Given the description of an element on the screen output the (x, y) to click on. 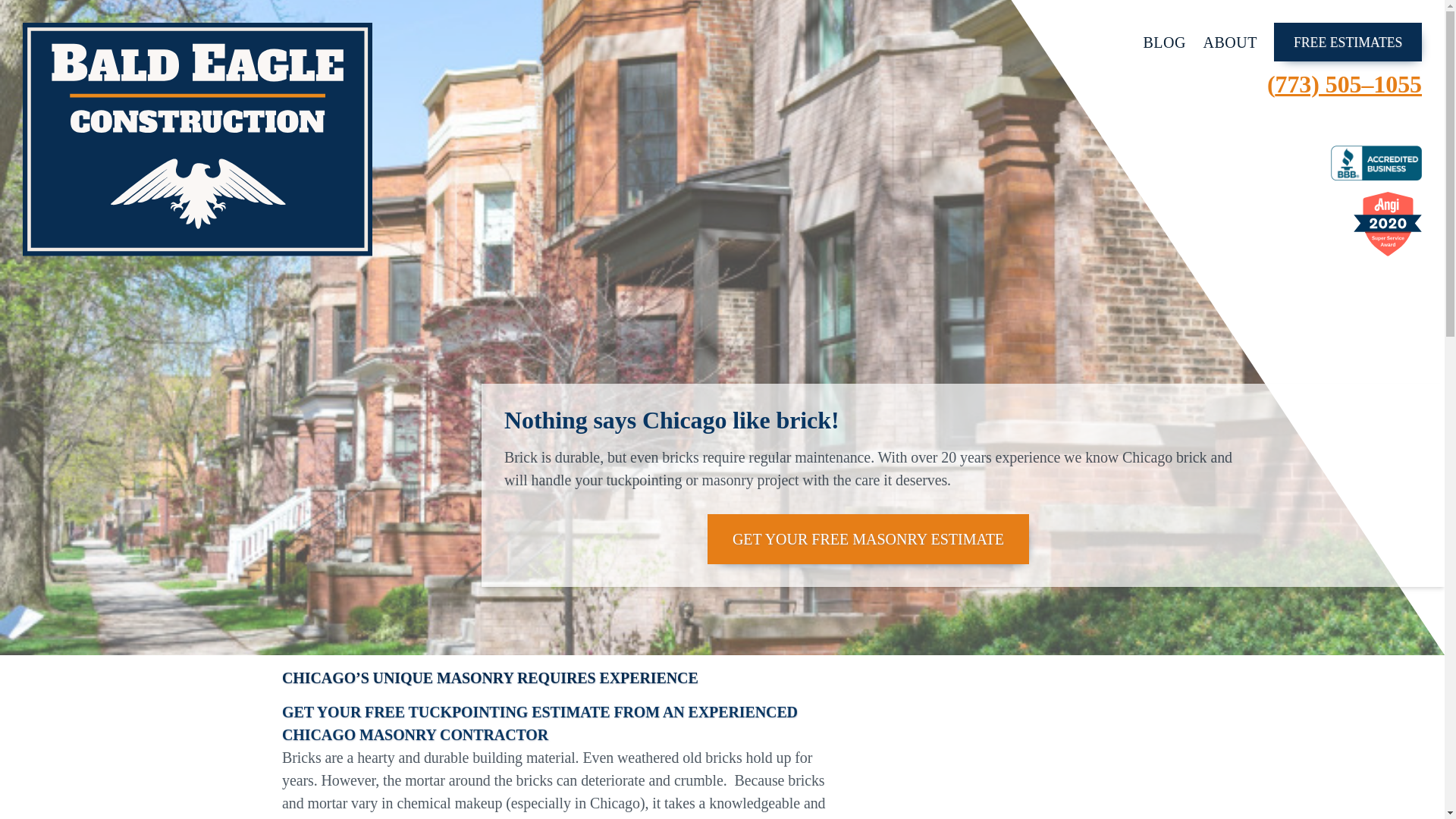
GET YOUR FREE MASONRY ESTIMATE (868, 539)
FREE ESTIMATES (1348, 41)
BLOG (1164, 41)
ABOUT (1229, 41)
